Given the description of an element on the screen output the (x, y) to click on. 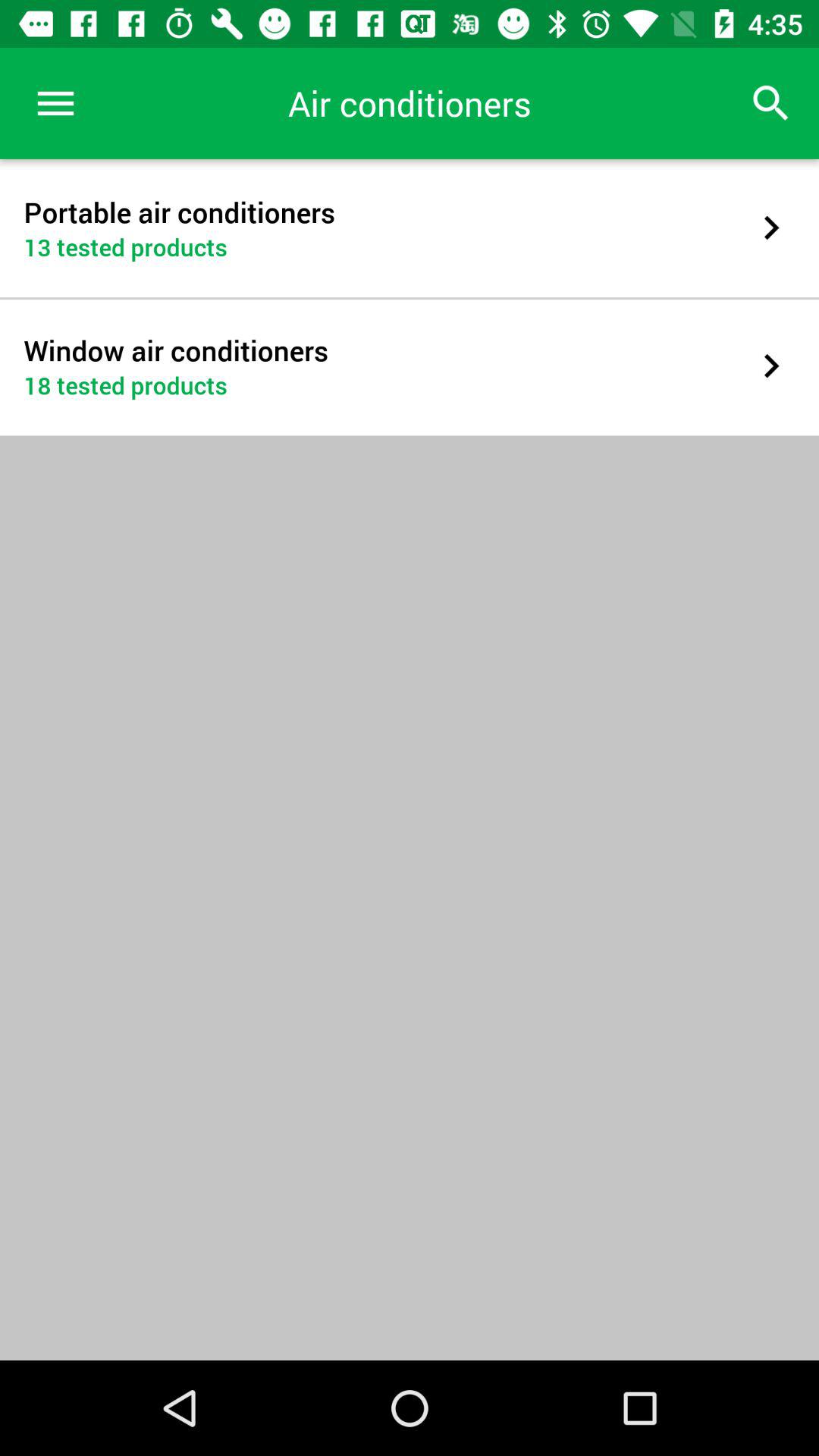
turn on icon next to air conditioners item (55, 103)
